Given the description of an element on the screen output the (x, y) to click on. 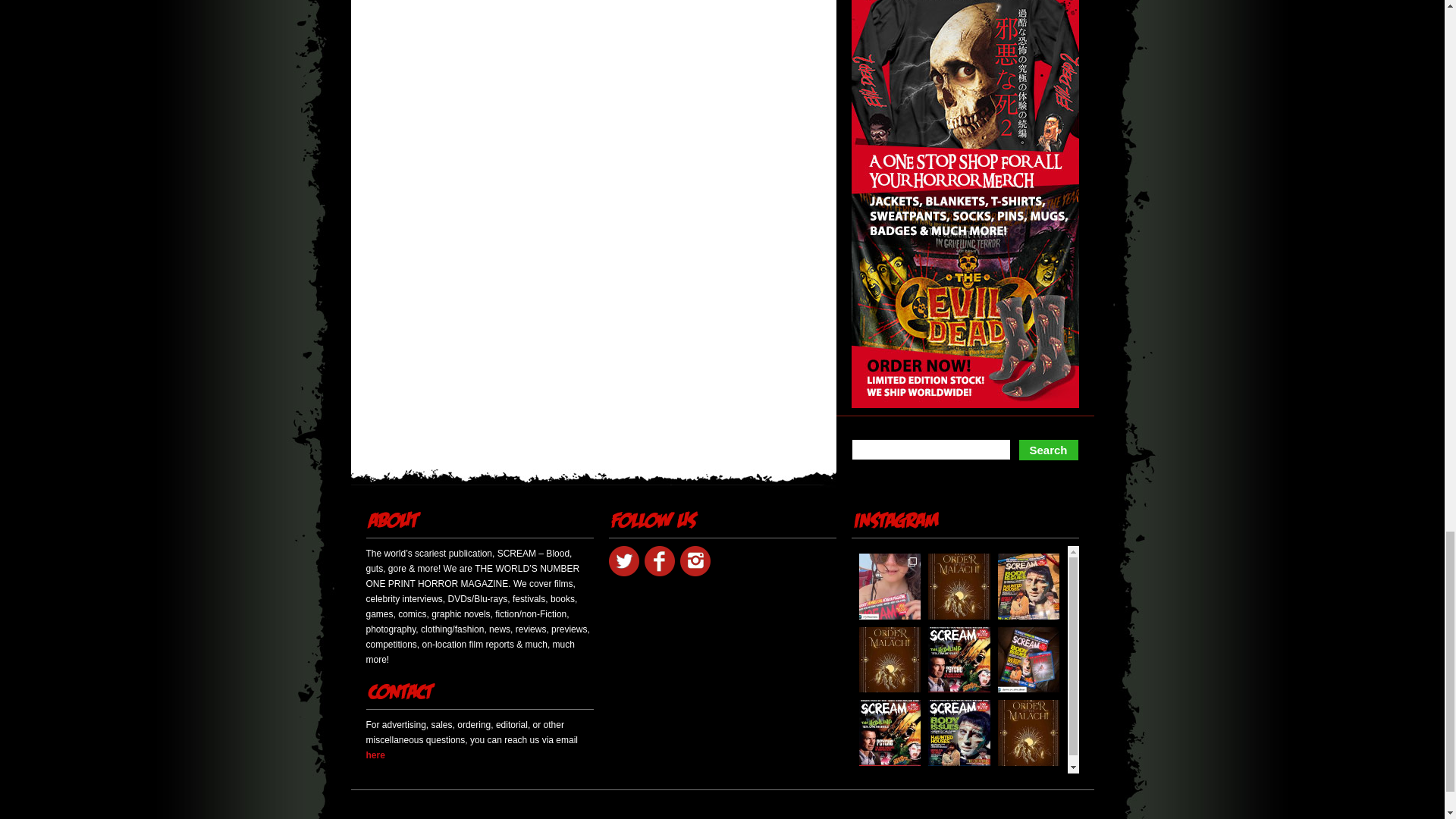
Search (1047, 449)
Search (1047, 449)
here (374, 755)
